Given the description of an element on the screen output the (x, y) to click on. 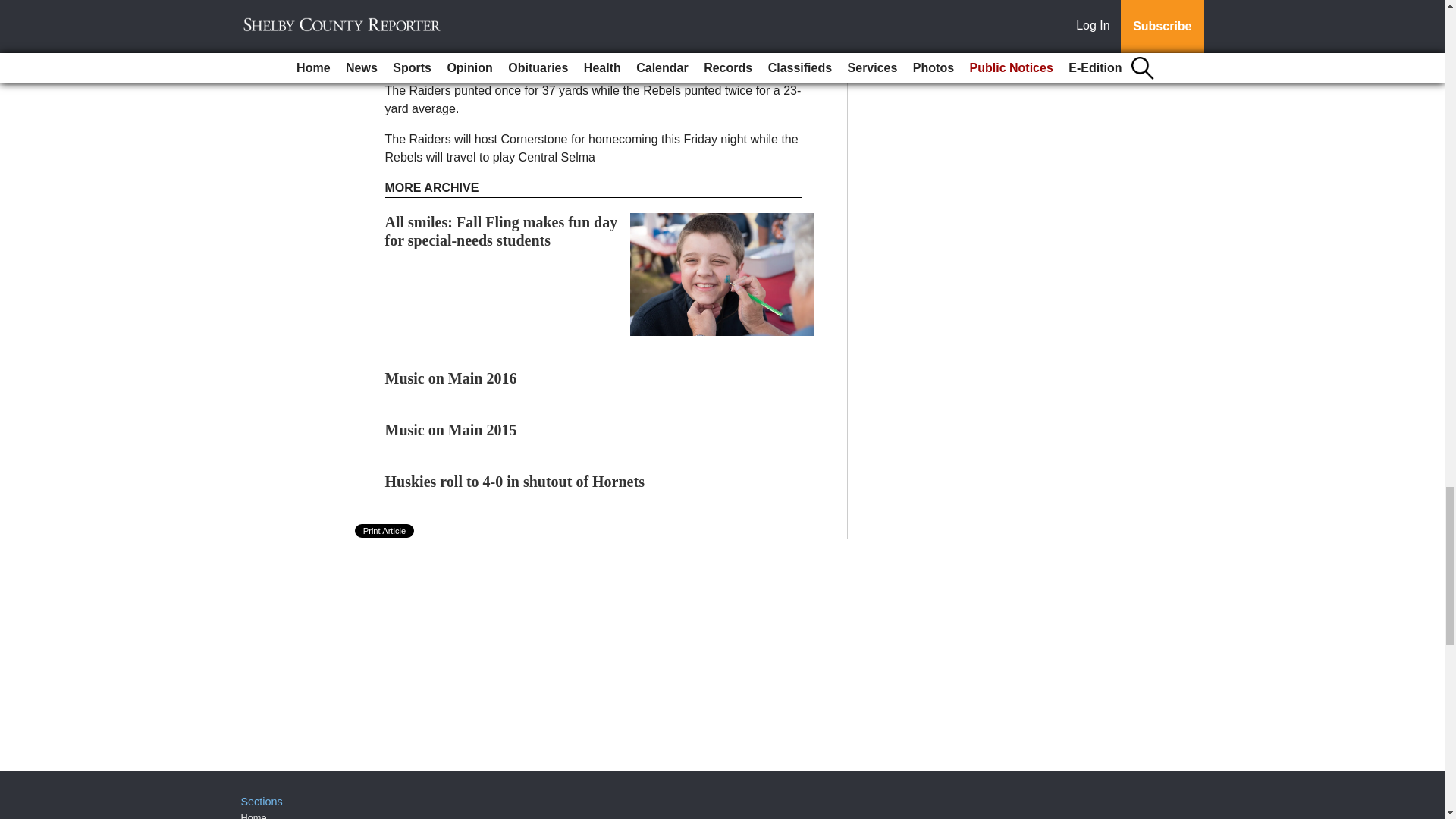
Music on Main 2016 (450, 378)
Huskies roll to 4-0 in shutout of Hornets (515, 481)
Music on Main 2015 (450, 429)
